Given the description of an element on the screen output the (x, y) to click on. 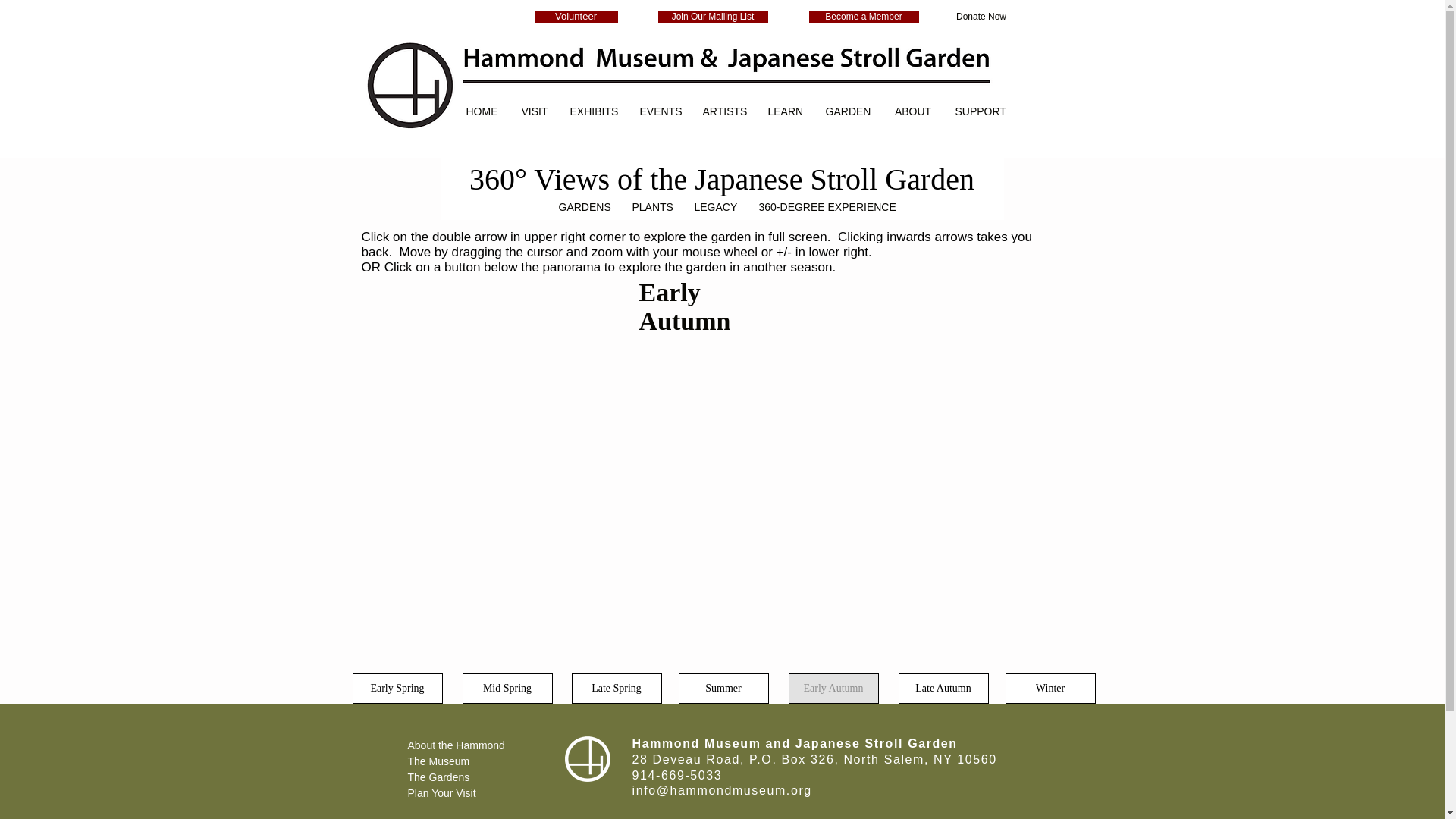
Join Our Mailing List (713, 16)
Become a Member (863, 16)
Hammond Museum and Japanese Stroll Garden 2015-5-2-14:2:5 (697, 84)
HOME (480, 106)
Donate Now (981, 16)
Volunteer (575, 16)
